Given the description of an element on the screen output the (x, y) to click on. 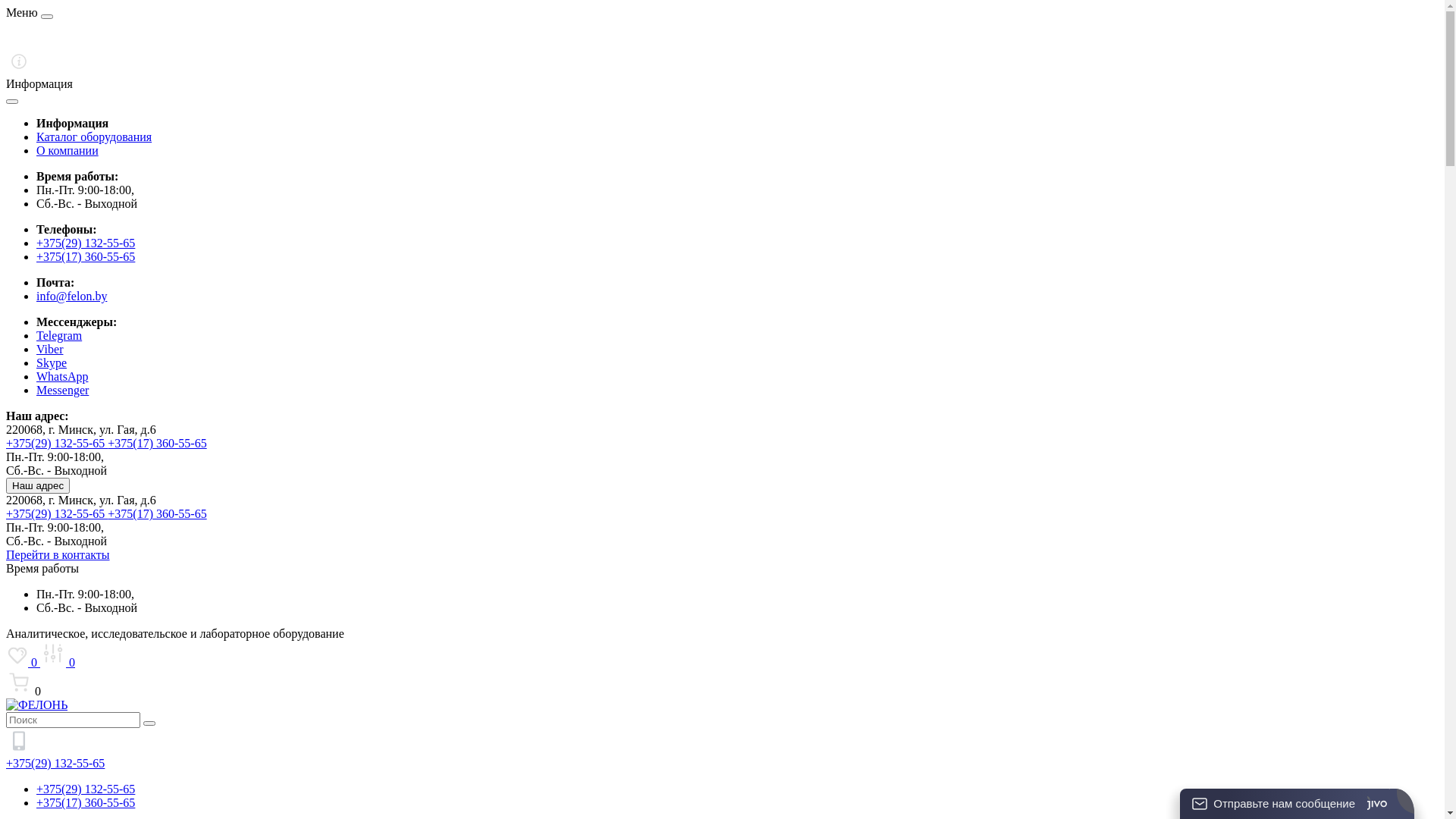
+375(17) 360-55-65 Element type: text (85, 256)
Viber Element type: text (49, 348)
WhatsApp Element type: text (61, 376)
+375(17) 360-55-65 Element type: text (156, 442)
+375(29) 132-55-65 Element type: text (85, 242)
+375(17) 360-55-65 Element type: text (85, 802)
0 Element type: text (23, 661)
0 Element type: text (57, 661)
Messenger Element type: text (62, 389)
+375(29) 132-55-65 Element type: text (56, 442)
+375(29) 132-55-65 Element type: text (55, 762)
Telegram Element type: text (58, 335)
0 Element type: text (722, 683)
info@felon.by Element type: text (71, 295)
+375(17) 360-55-65 Element type: text (156, 513)
+375(29) 132-55-65 Element type: text (85, 788)
Skype Element type: text (51, 362)
+375(29) 132-55-65 Element type: text (56, 513)
